Given the description of an element on the screen output the (x, y) to click on. 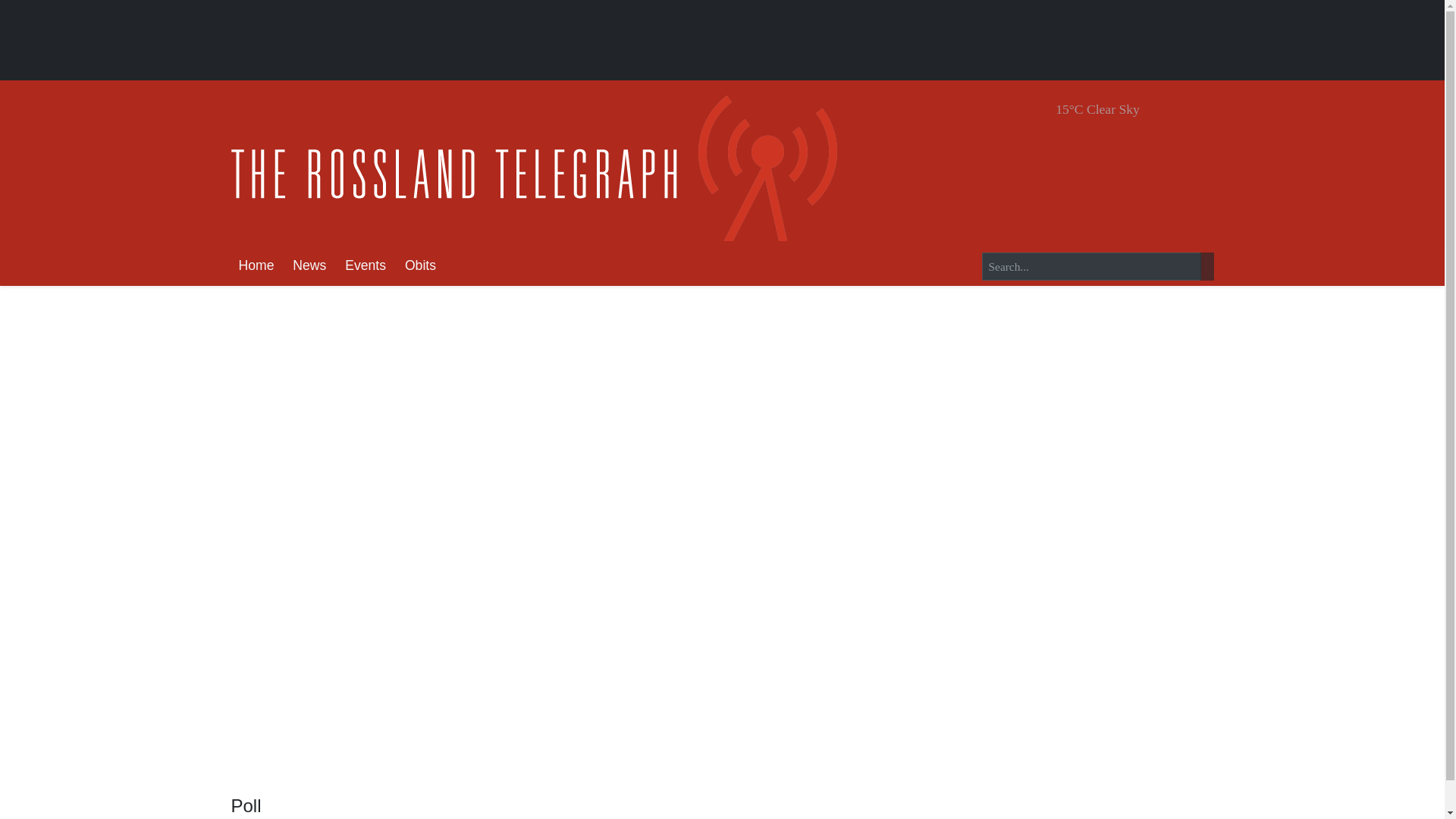
Home (255, 266)
News (309, 266)
Events (365, 266)
Obits (420, 266)
